Given the description of an element on the screen output the (x, y) to click on. 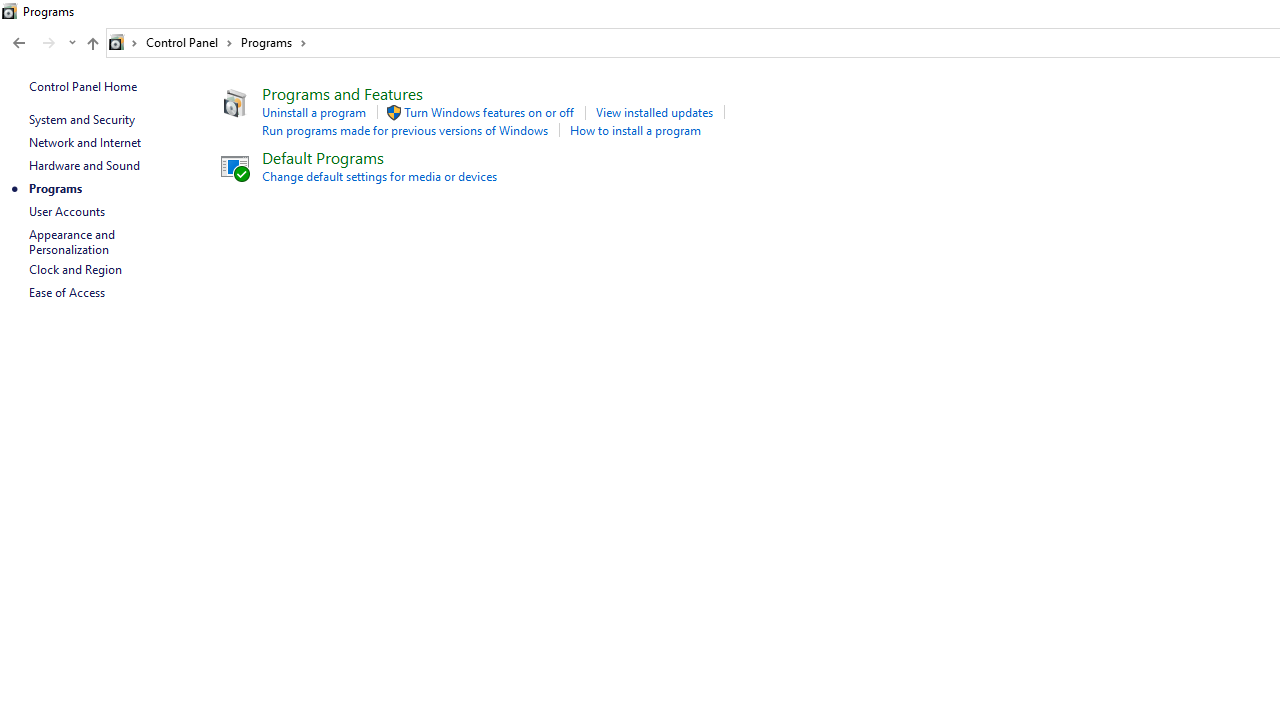
Navigation buttons (41, 43)
Up band toolbar (92, 46)
Appearance and Personalization (73, 241)
Control Panel Home (82, 86)
System (10, 11)
User Accounts (66, 210)
Hardware and Sound (84, 164)
Forward (Alt + Right Arrow) (49, 43)
Programs (273, 42)
Up to "Control Panel" (Alt + Up Arrow) (92, 43)
Recent locations (71, 43)
Icon (232, 165)
Run programs made for previous versions of Windows (404, 130)
View installed updates (654, 112)
Clock and Region (75, 269)
